Given the description of an element on the screen output the (x, y) to click on. 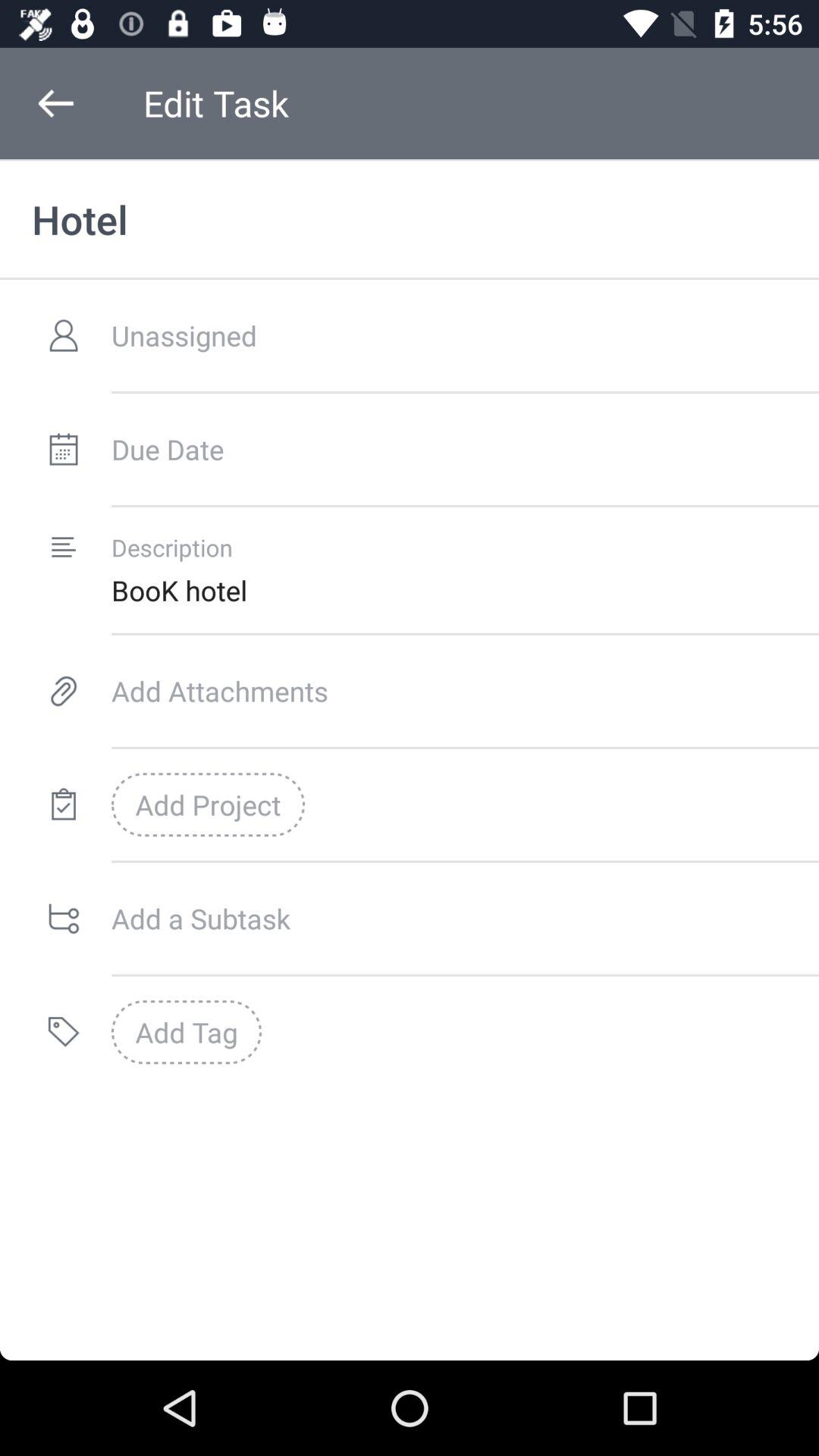
add a subtask (465, 918)
